Given the description of an element on the screen output the (x, y) to click on. 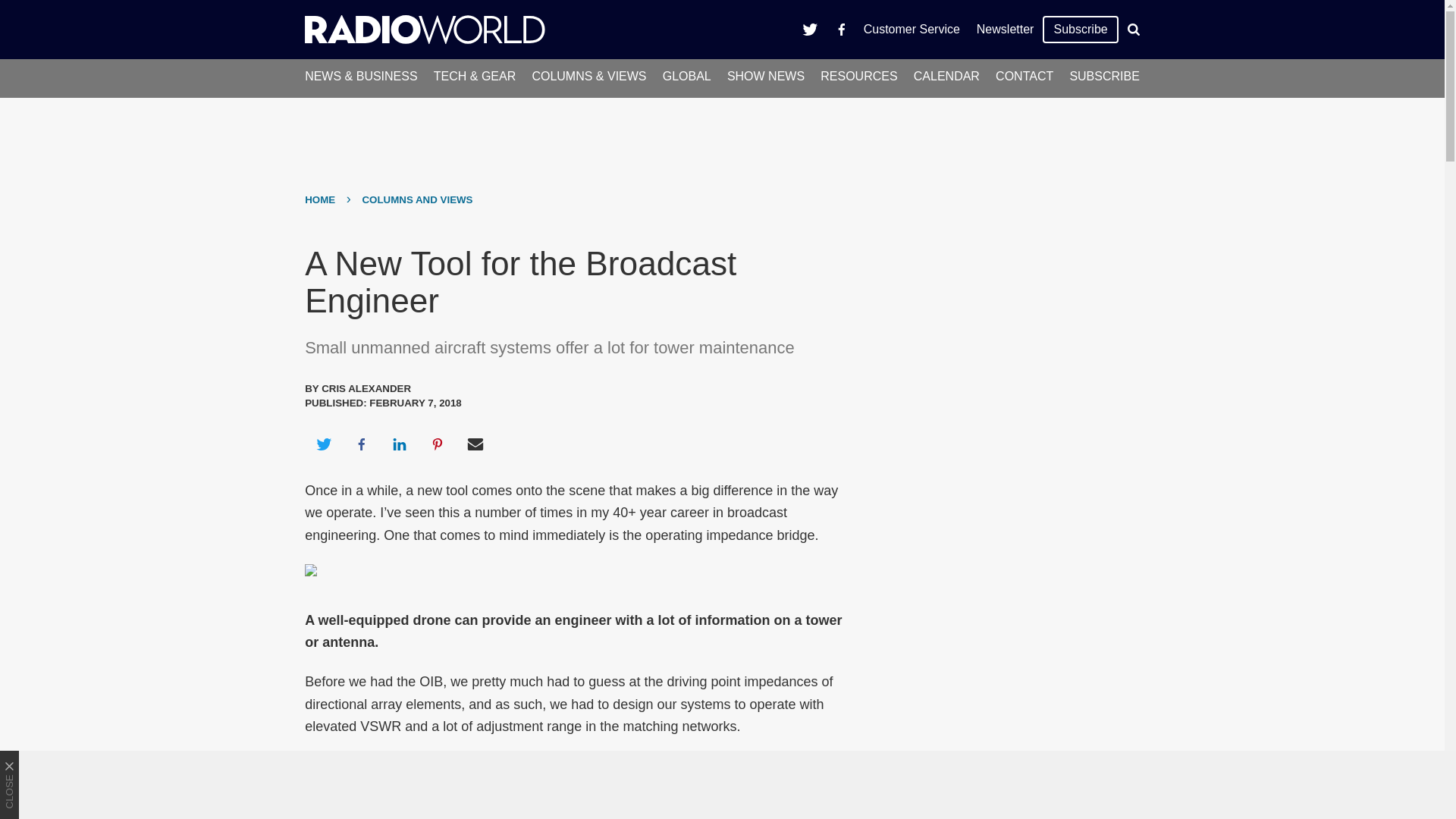
Share via Email (476, 444)
Share on Pinterest (438, 444)
Share on Facebook (361, 444)
Customer Service (912, 29)
Share on LinkedIn (399, 444)
Share on Twitter (323, 444)
